Given the description of an element on the screen output the (x, y) to click on. 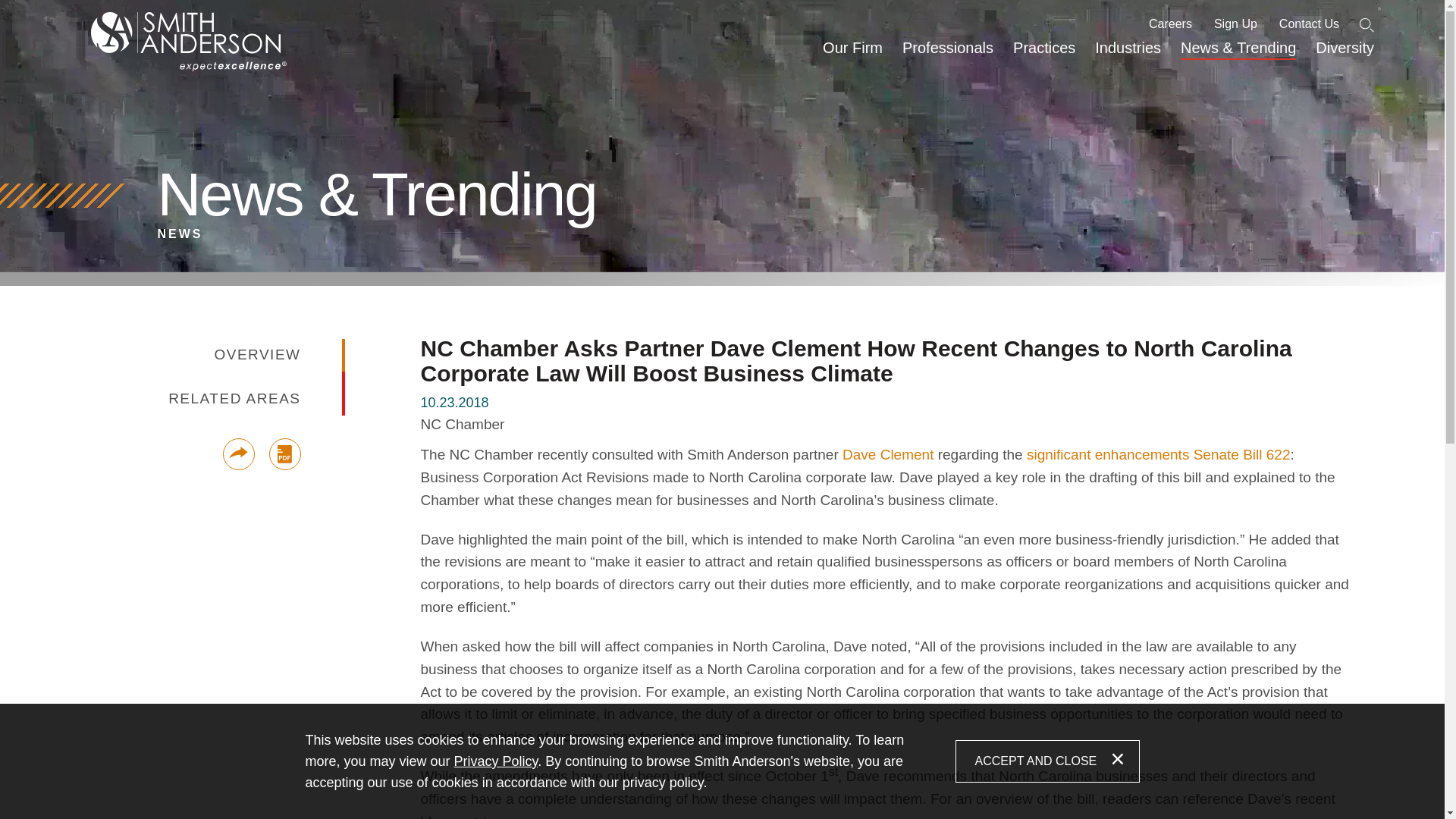
Our Firm (852, 54)
Menu (680, 13)
Professionals (947, 54)
Main Content (674, 13)
Search (1366, 25)
Print PDF (283, 454)
Main Menu (680, 13)
Share (238, 454)
